Given the description of an element on the screen output the (x, y) to click on. 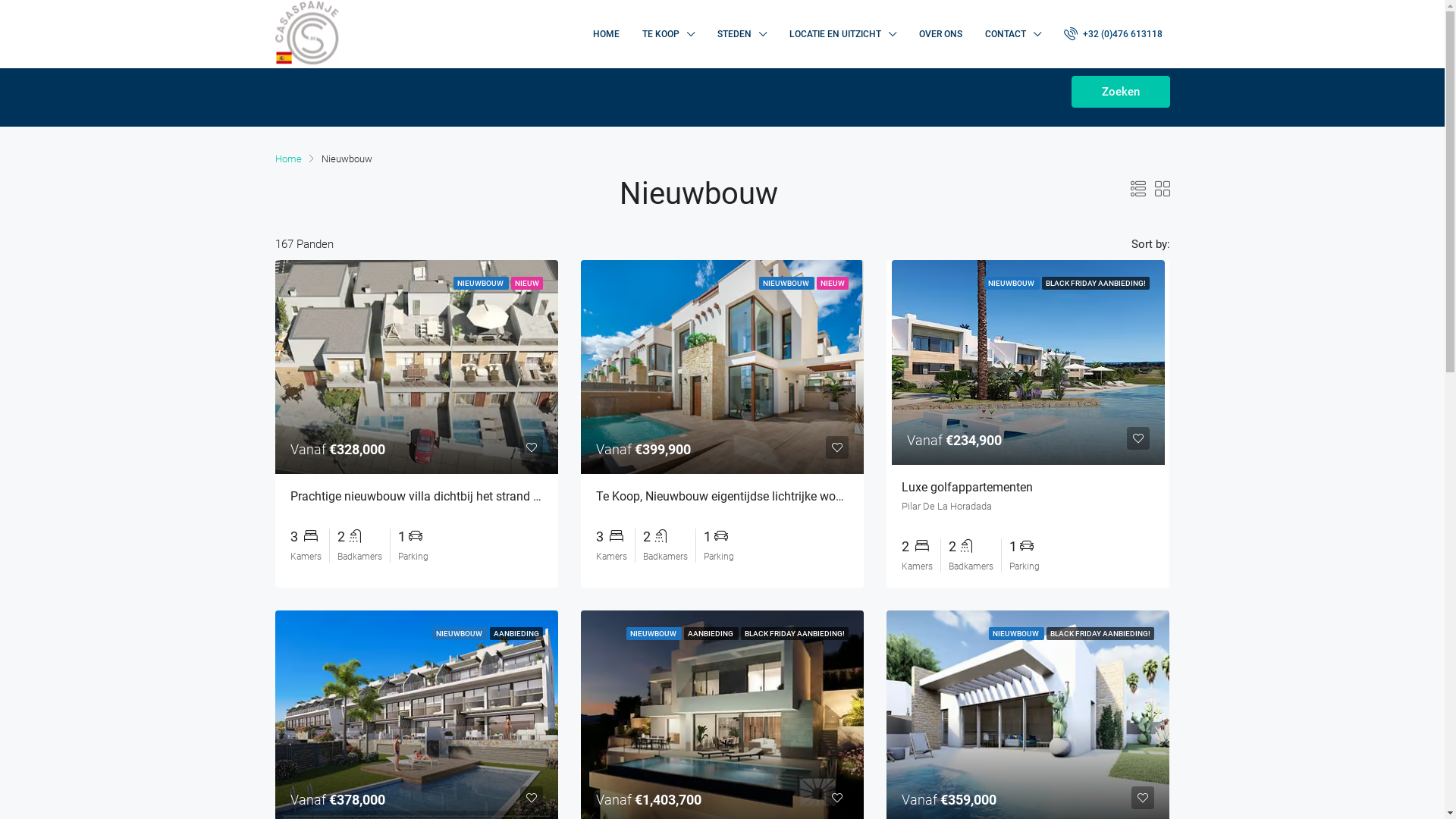
Luxe golfappartementen Element type: text (966, 487)
Favoriet Element type: hover (836, 447)
LOCATIE EN UITZICHT Element type: text (842, 34)
Favoriet Element type: hover (1137, 437)
NIEUWBOUW Element type: text (1016, 633)
NIEUW Element type: text (832, 282)
NIEUWBOUW Element type: text (480, 282)
Favoriet Element type: hover (836, 797)
NIEUWBOUW Element type: text (459, 633)
BLACK FRIDAY AANBIEDING! Element type: text (1100, 633)
Favoriet Element type: hover (1142, 797)
NIEUWBOUW Element type: text (653, 633)
STEDEN Element type: text (741, 34)
BLACK FRIDAY AANBIEDING! Element type: text (1095, 282)
Favoriet Element type: hover (531, 447)
NIEUWBOUW Element type: text (786, 282)
Home Element type: text (287, 158)
Zoeken Element type: text (1119, 91)
HOME Element type: text (605, 34)
TE KOOP Element type: text (668, 34)
NIEUWBOUW Element type: text (1011, 282)
AANBIEDING Element type: text (515, 633)
AANBIEDING Element type: text (711, 633)
BLACK FRIDAY AANBIEDING! Element type: text (794, 633)
Favoriet Element type: hover (531, 797)
NIEUW Element type: text (526, 282)
OVER ONS Element type: text (939, 34)
CONTACT Element type: text (1012, 34)
+32 (0)476 613118 Element type: text (1116, 34)
